Given the description of an element on the screen output the (x, y) to click on. 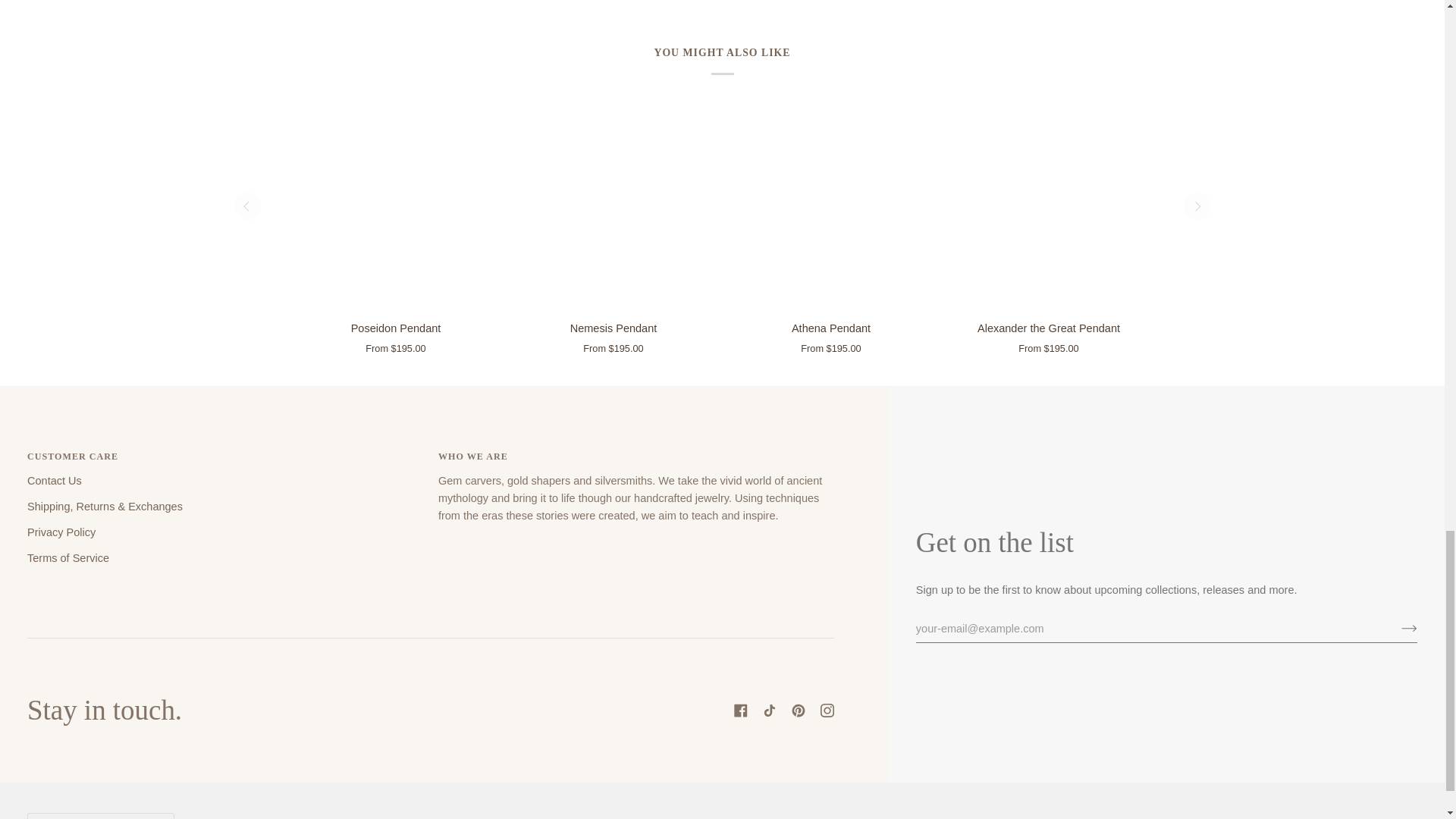
Facebook (740, 710)
Pinterest (798, 710)
Tiktok (769, 710)
Instagram (827, 710)
